Given the description of an element on the screen output the (x, y) to click on. 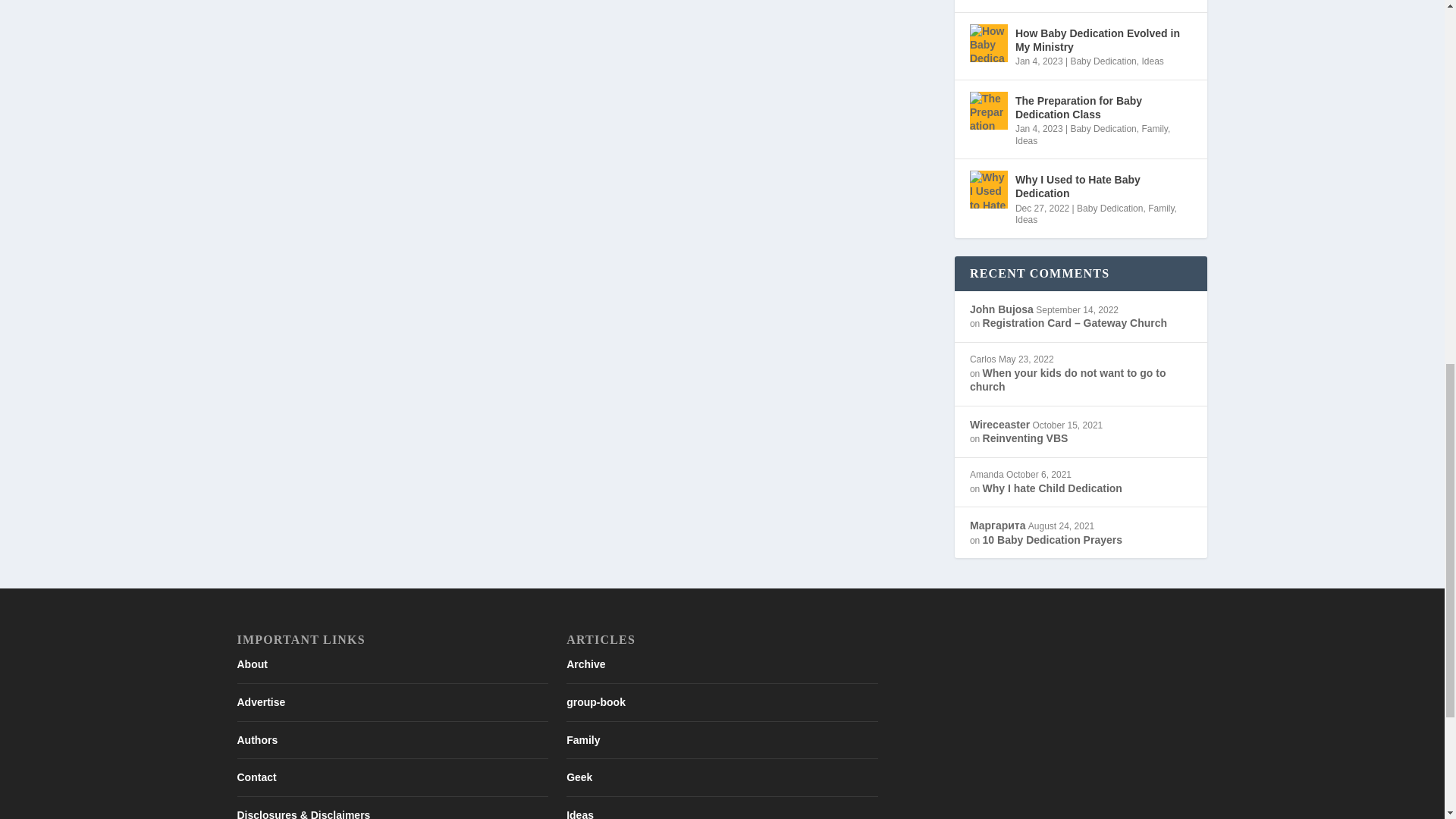
Ideas (1152, 61)
The Preparation for Baby Dedication Class (1103, 107)
The Preparation for Baby Dedication Class (988, 110)
Baby Dedication (1102, 128)
Why I Used to Hate Baby Dedication (988, 189)
Baby Dedication (1102, 61)
How Baby Dedication Evolved in My Ministry (1103, 40)
Family (1154, 128)
How Baby Dedication Evolved in My Ministry (988, 43)
Ideas (1025, 140)
